Given the description of an element on the screen output the (x, y) to click on. 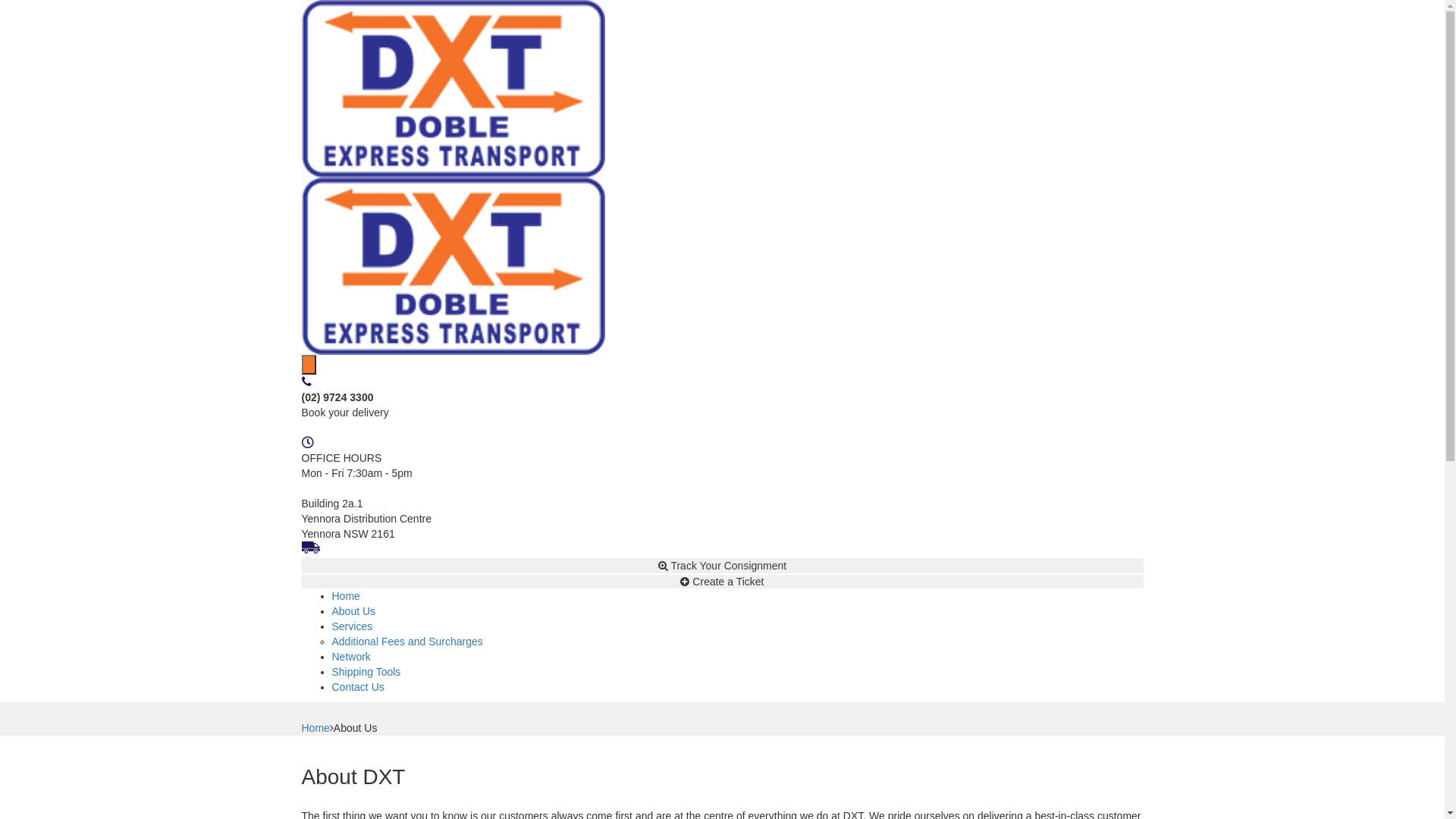
Contact Us Element type: text (358, 686)
About Us Element type: text (354, 611)
Home Element type: text (346, 595)
Home Element type: text (315, 727)
Track Your Consignment Element type: text (722, 565)
Create a Ticket Element type: text (722, 581)
Additional Fees and Surcharges Element type: text (407, 641)
  Element type: text (308, 364)
Services Element type: text (352, 626)
Network Element type: text (351, 656)
Shipping Tools Element type: text (366, 671)
